Given the description of an element on the screen output the (x, y) to click on. 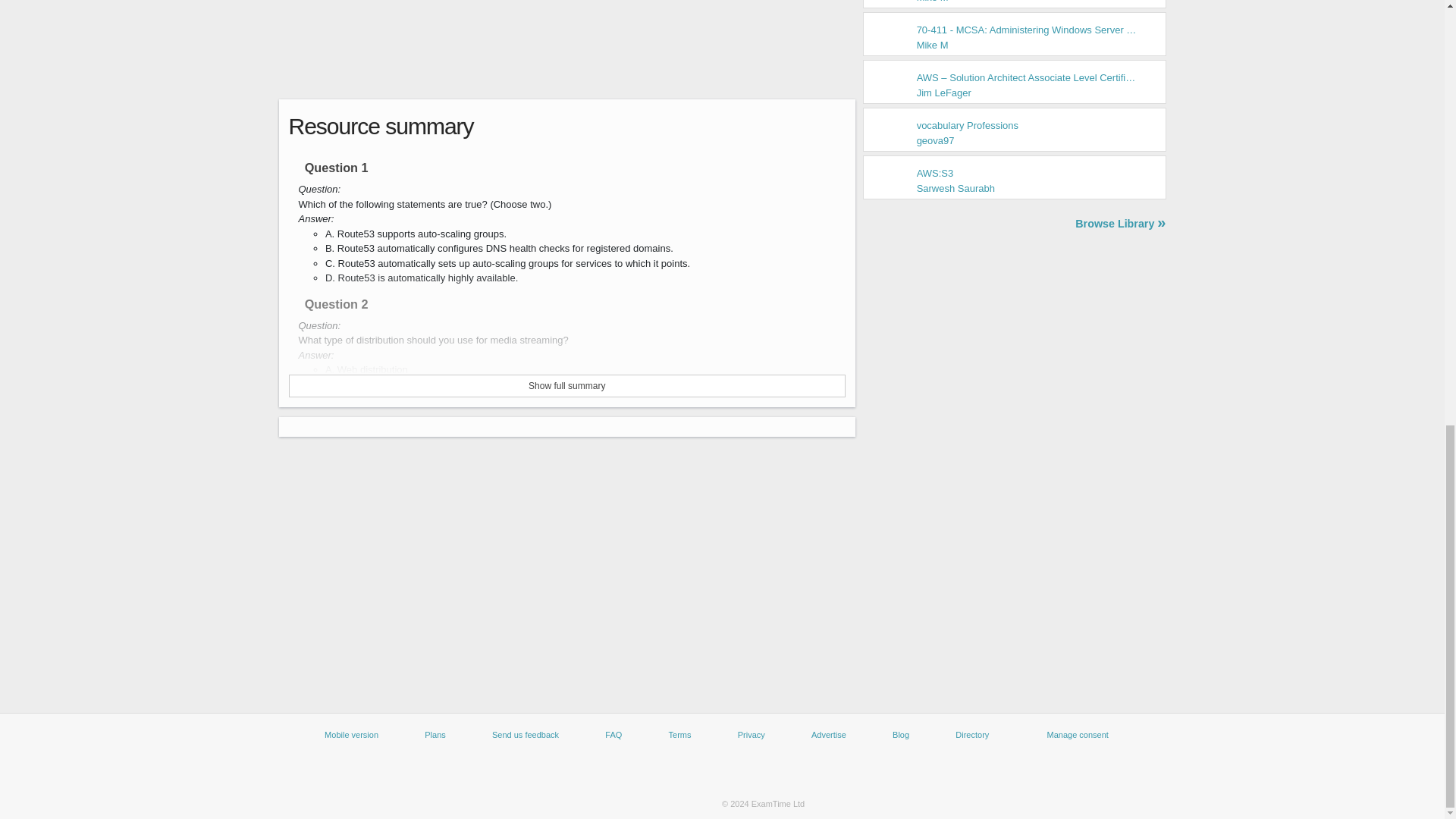
Show full summary (566, 385)
Embed in blog or share on GoConqr (880, 126)
Email link to a friend (820, 126)
Like us on Facebook (630, 771)
Mike M (933, 1)
Print (938, 126)
